Given the description of an element on the screen output the (x, y) to click on. 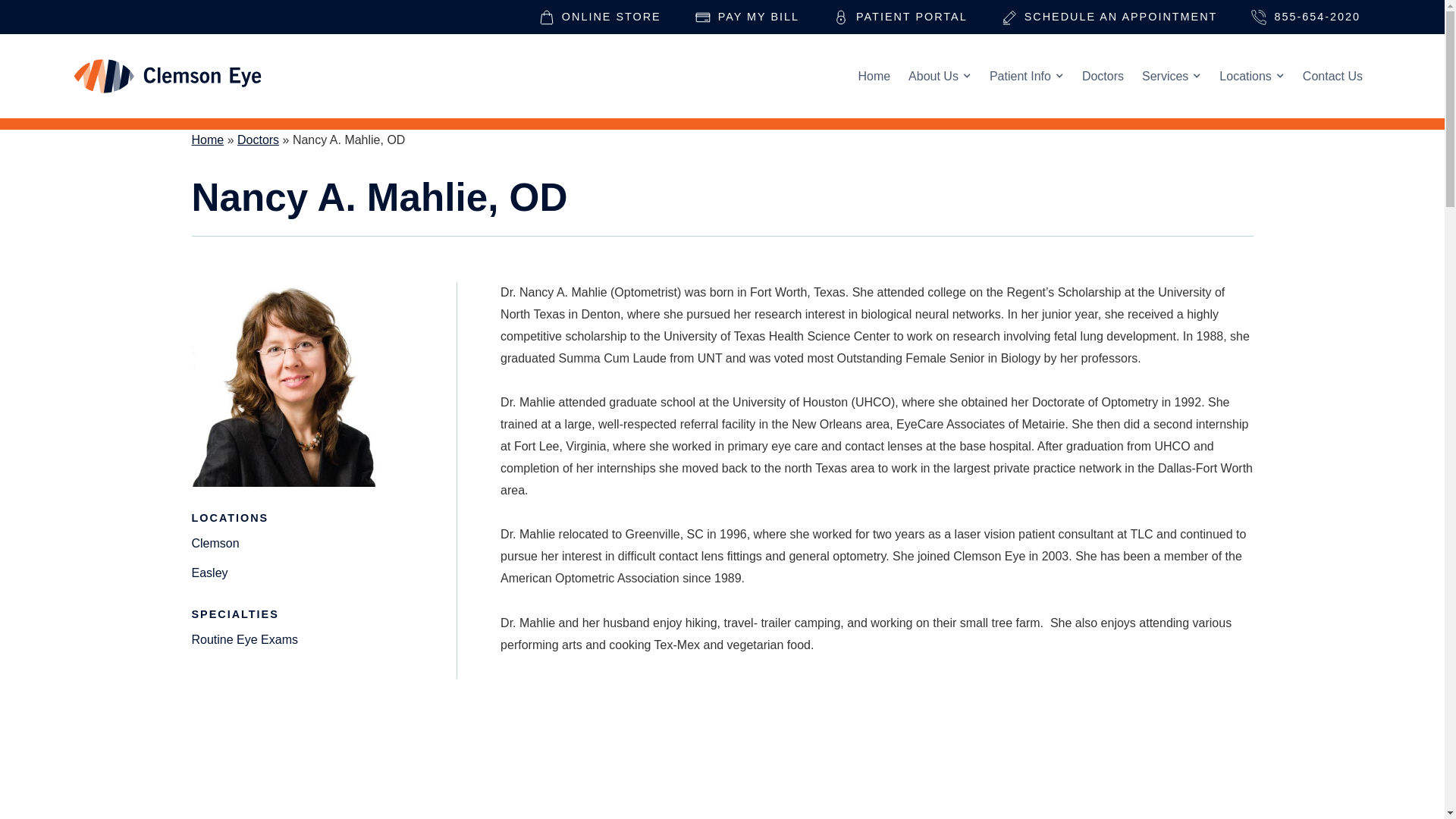
SCHEDULE AN APPOINTMENT (1109, 17)
Doctors (1102, 75)
About Us (939, 75)
Go to homepage (167, 76)
Home (873, 75)
Patient Info (1026, 75)
855-654-2020 (1305, 17)
Services (1170, 75)
PATIENT PORTAL (900, 17)
ONLINE STORE (599, 17)
PAY MY BILL (747, 17)
